Given the description of an element on the screen output the (x, y) to click on. 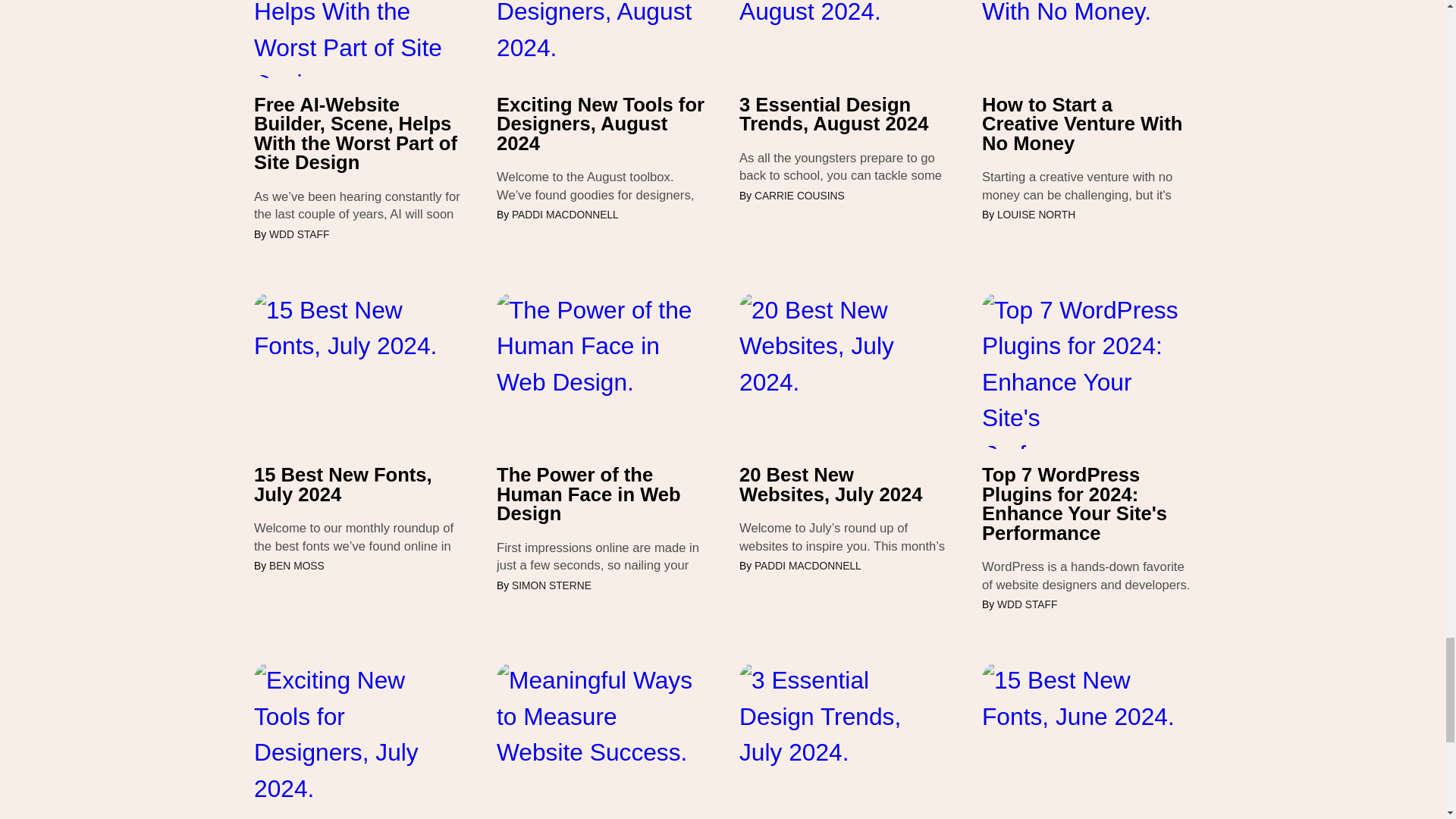
WDD STAFF (299, 234)
PADDI MACDONNELL (565, 214)
Exciting New Tools for Designers, August 2024 (600, 124)
